Given the description of an element on the screen output the (x, y) to click on. 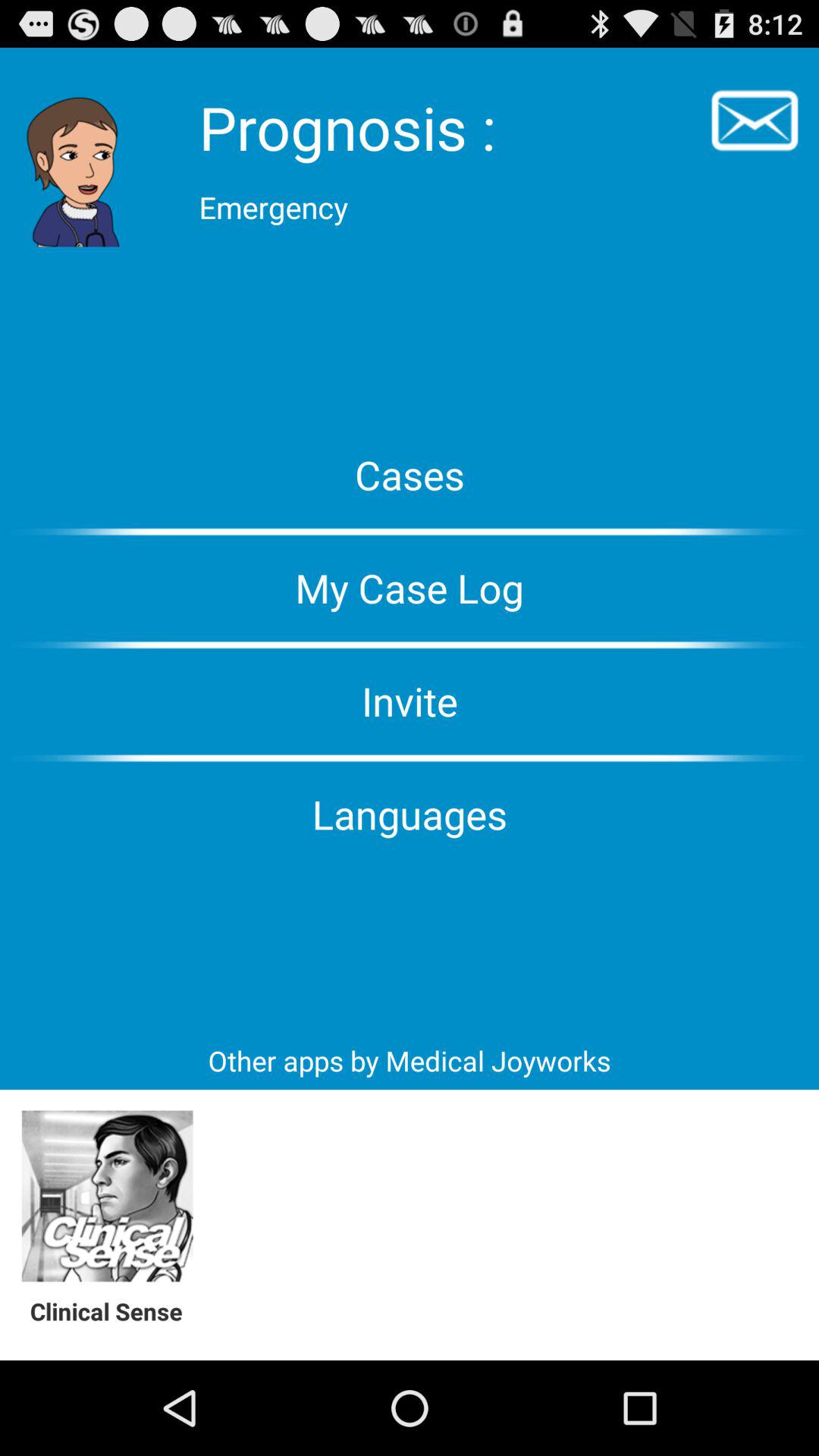
open the clinical sense app (114, 1311)
